Given the description of an element on the screen output the (x, y) to click on. 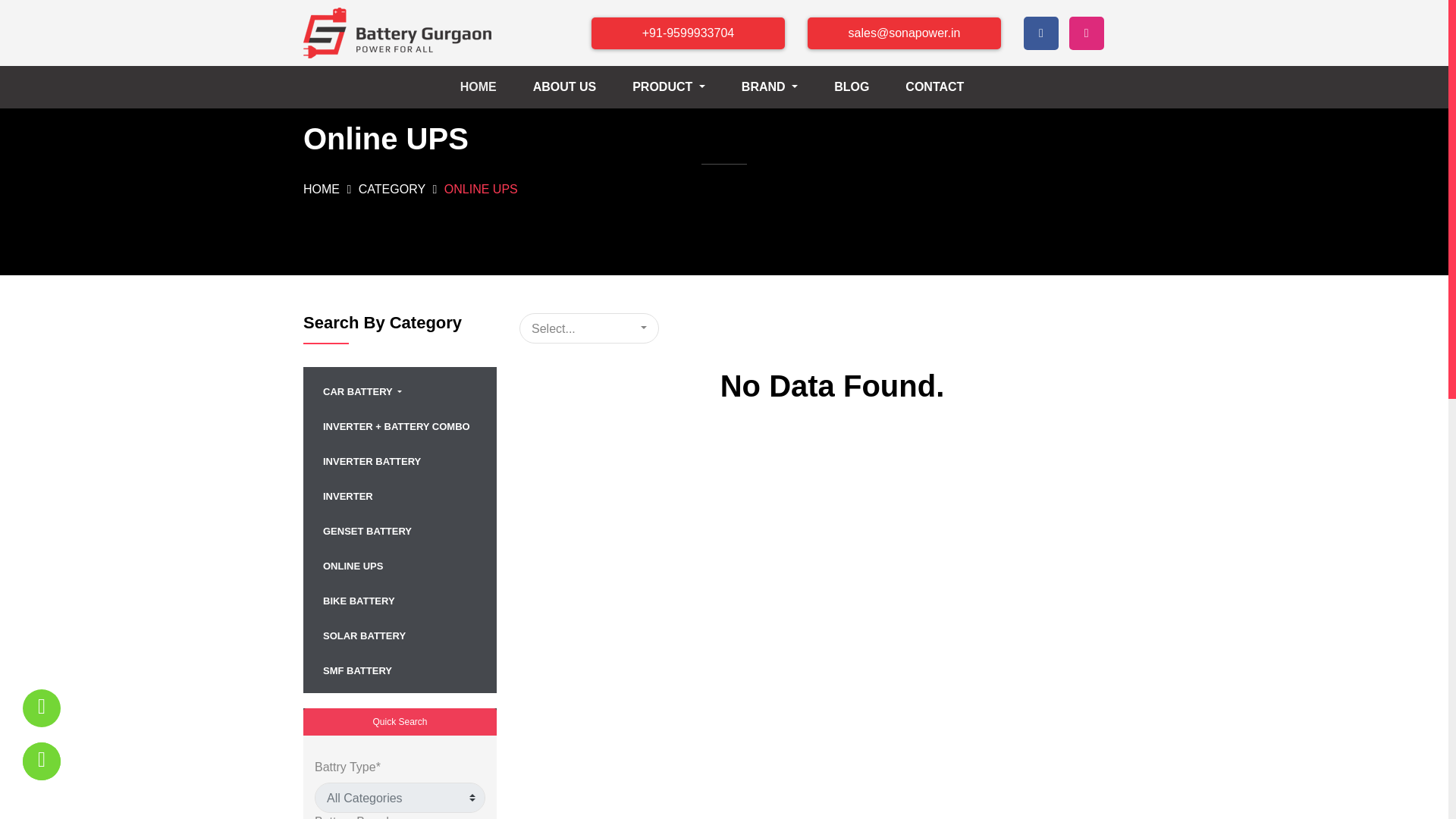
ABOUT US (577, 87)
BLOG (863, 87)
BRAND (781, 87)
CONTACT (946, 87)
CATEGORY (393, 188)
HOME (322, 188)
CAR BATTERY (399, 390)
PRODUCT (680, 87)
